Given the description of an element on the screen output the (x, y) to click on. 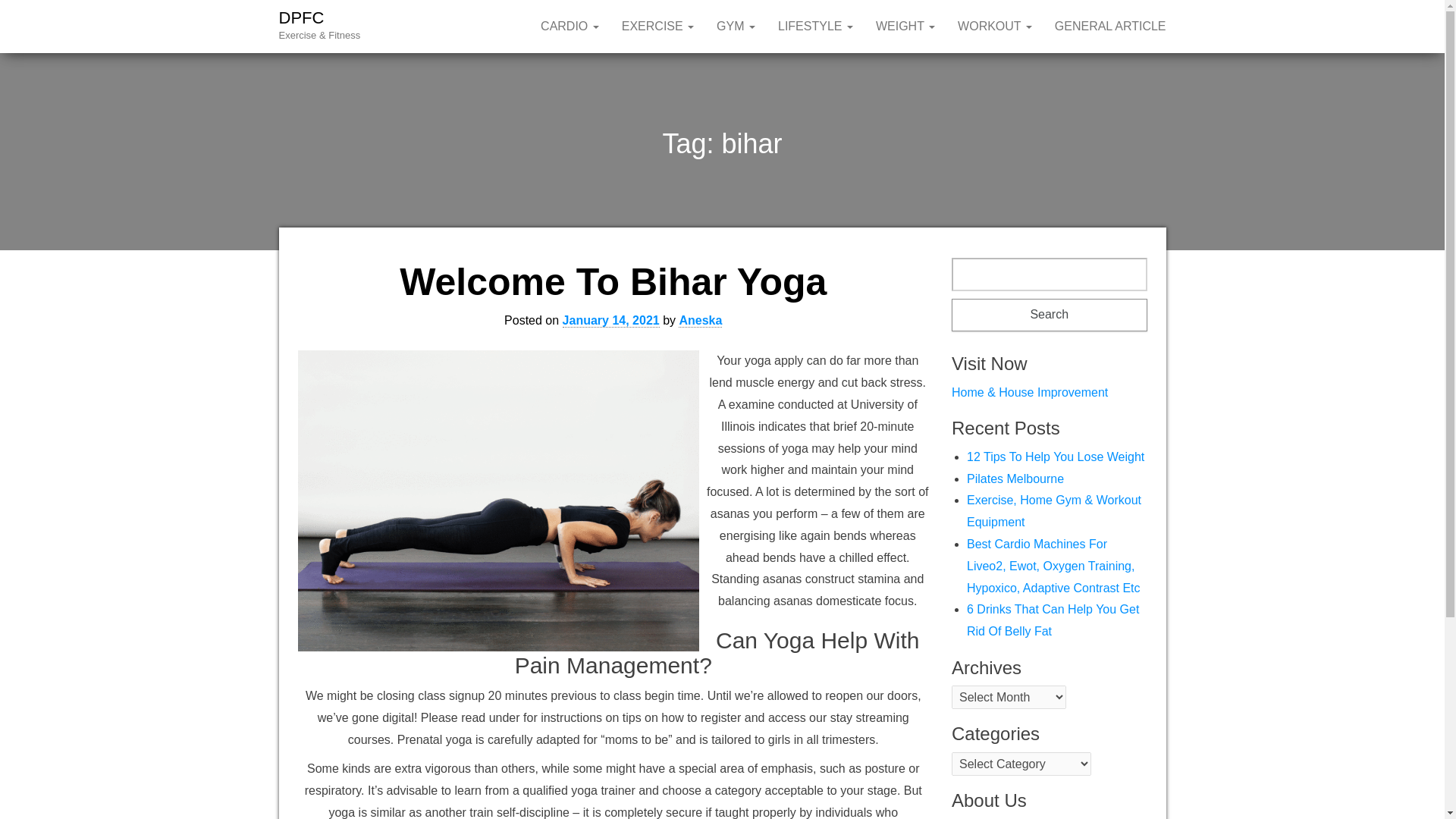
Cardio (569, 26)
WEIGHT (905, 26)
Pilates Melbourne (1015, 478)
Search (1049, 314)
Gym (735, 26)
January 14, 2021 (610, 320)
Lifestyle (815, 26)
Exercise (657, 26)
LIFESTYLE (815, 26)
EXERCISE (657, 26)
